Given the description of an element on the screen output the (x, y) to click on. 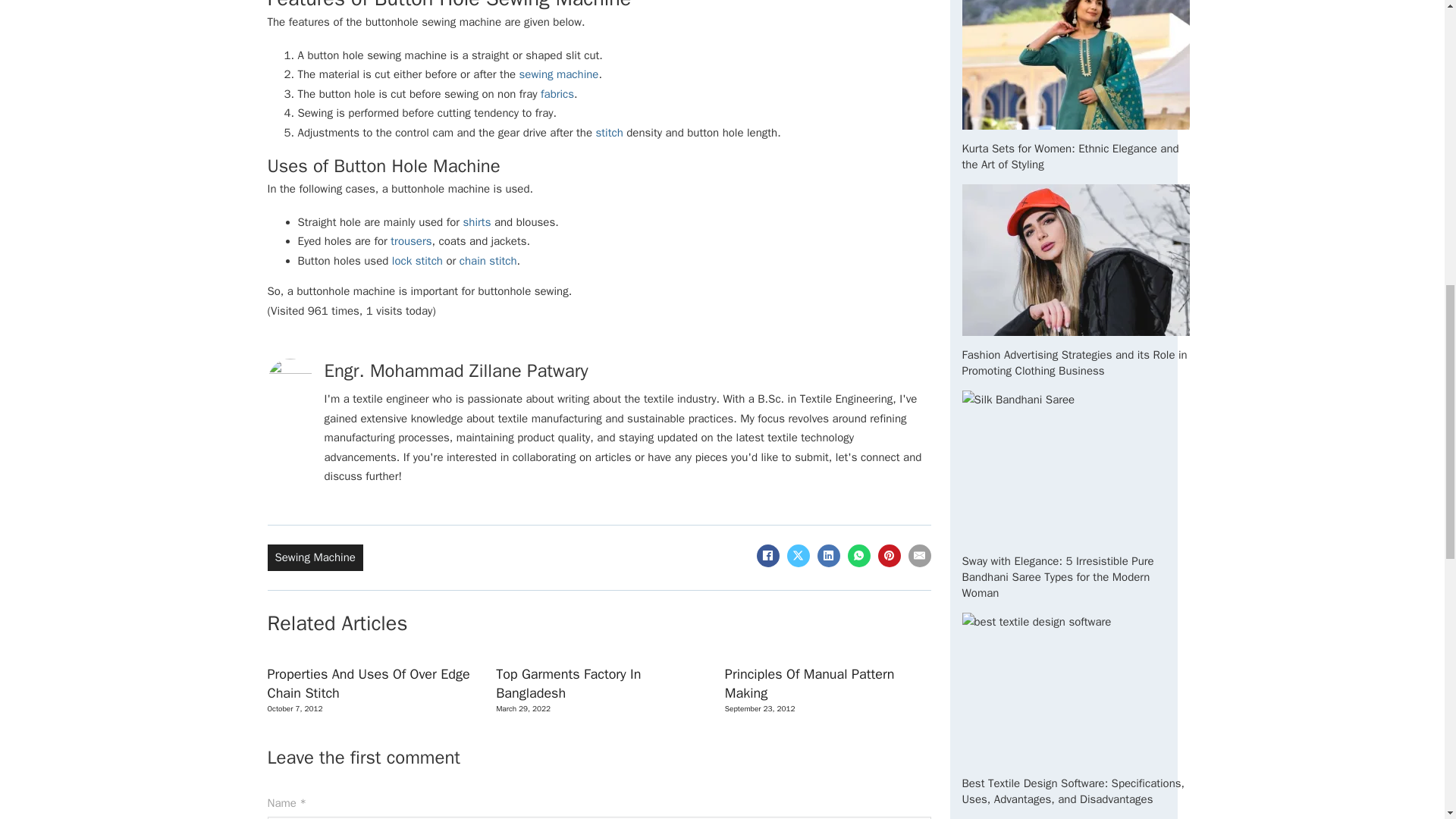
fabrics (556, 93)
sewing machine (558, 74)
lock stitch (416, 260)
shirts (477, 222)
stitch (609, 132)
trousers (410, 241)
Sewing Machine (315, 557)
